Given the description of an element on the screen output the (x, y) to click on. 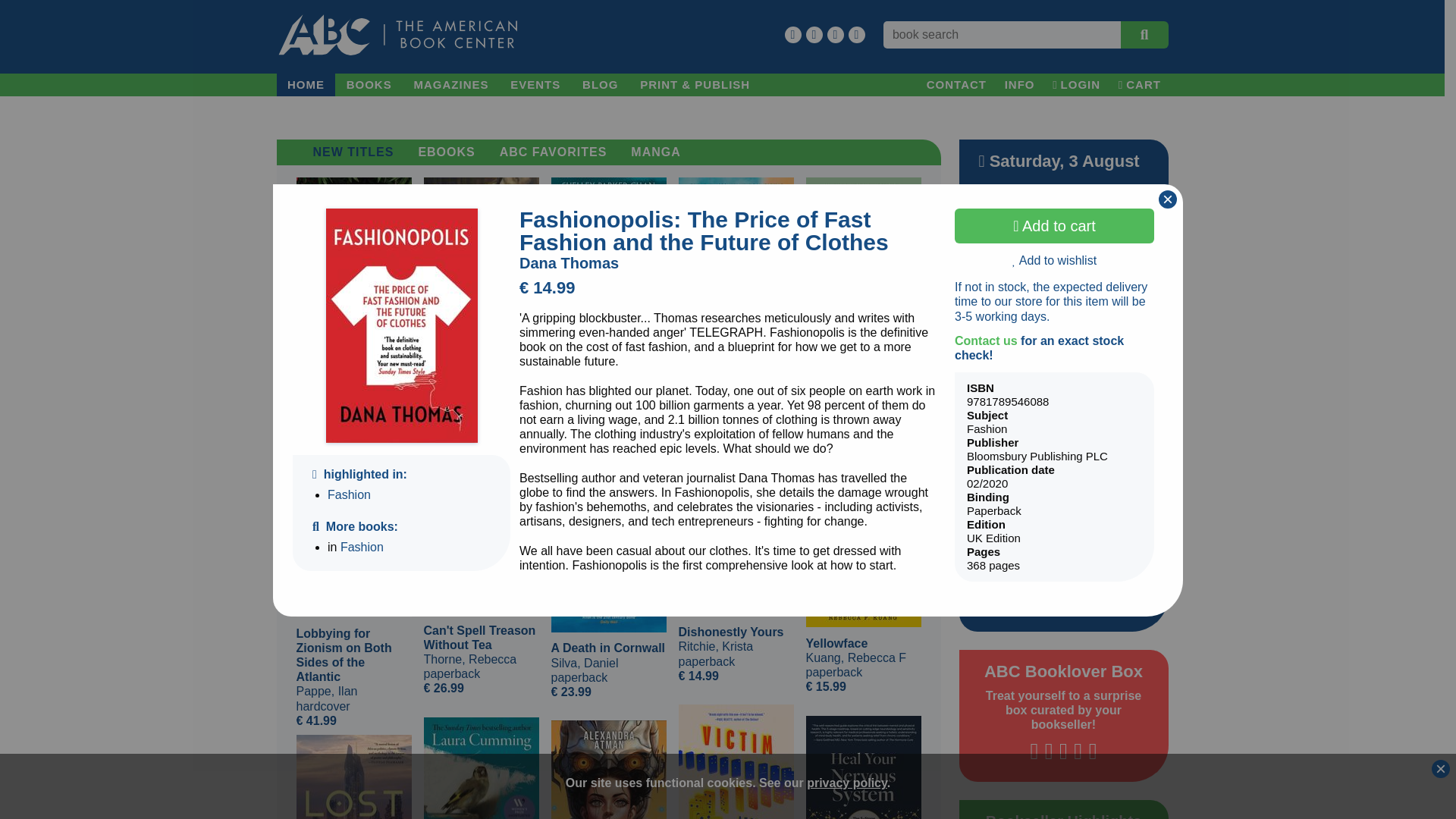
CART (1138, 84)
Victim (735, 761)
Heal Your Nervous System (862, 767)
LOGIN (1076, 84)
ANTI (607, 769)
Thunderclap (480, 768)
BOOKS (368, 84)
Lost Ark Dreaming (352, 776)
CONTACT (955, 84)
HOME (305, 84)
The American Book Center (397, 34)
EVENTS (535, 84)
BLOG (600, 84)
MAGAZINES (451, 84)
INFO (1019, 84)
